Given the description of an element on the screen output the (x, y) to click on. 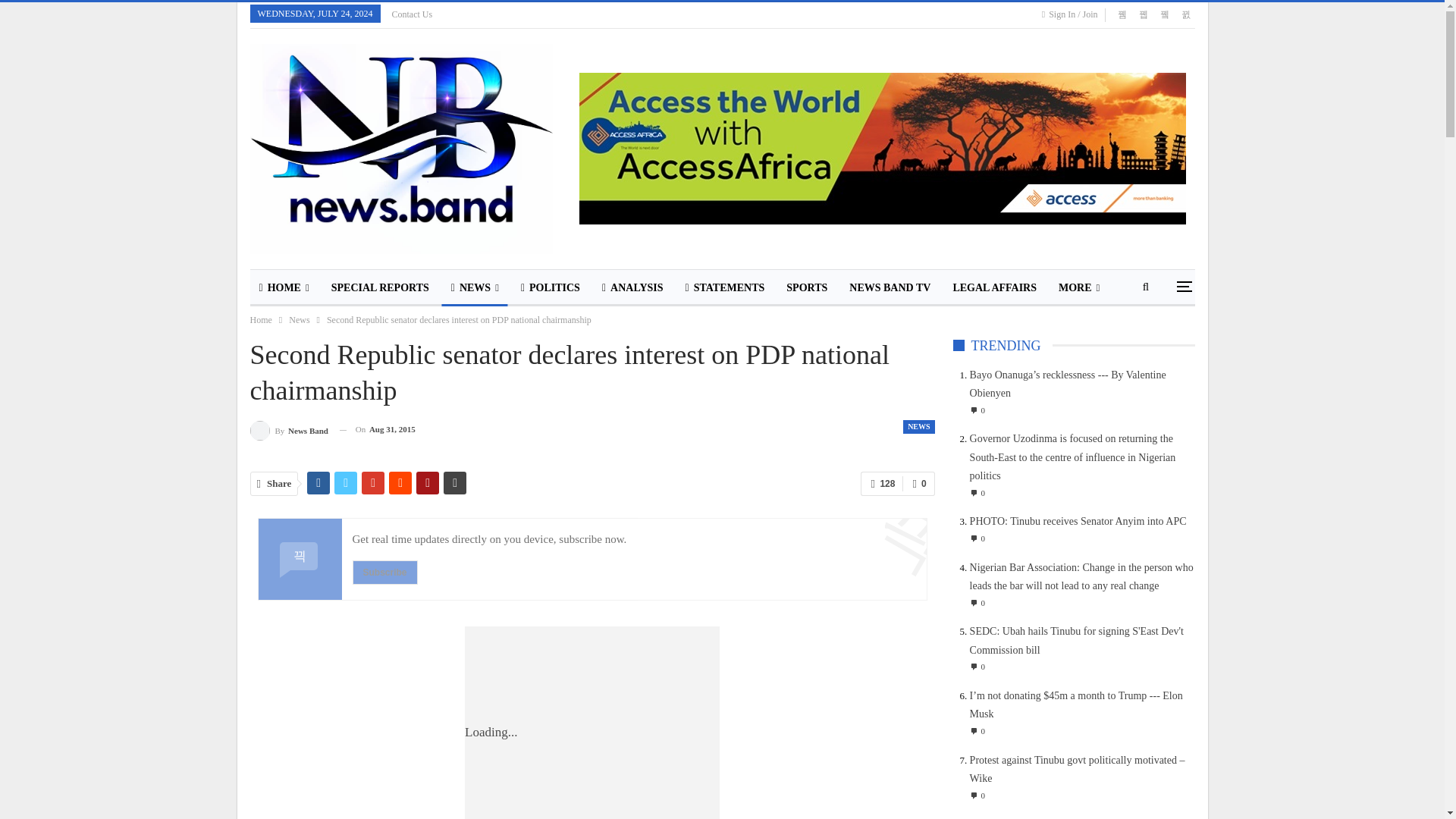
NEWS (475, 288)
NEWS BAND TV (889, 288)
POLITICS (550, 288)
HOME (284, 288)
ANALYSIS (632, 288)
LEGAL AFFAIRS (994, 288)
Browse Author Articles (289, 429)
Contact Us (411, 14)
Advertisement (617, 722)
SPORTS (806, 288)
STATEMENTS (725, 288)
SPECIAL REPORTS (379, 288)
